Given the description of an element on the screen output the (x, y) to click on. 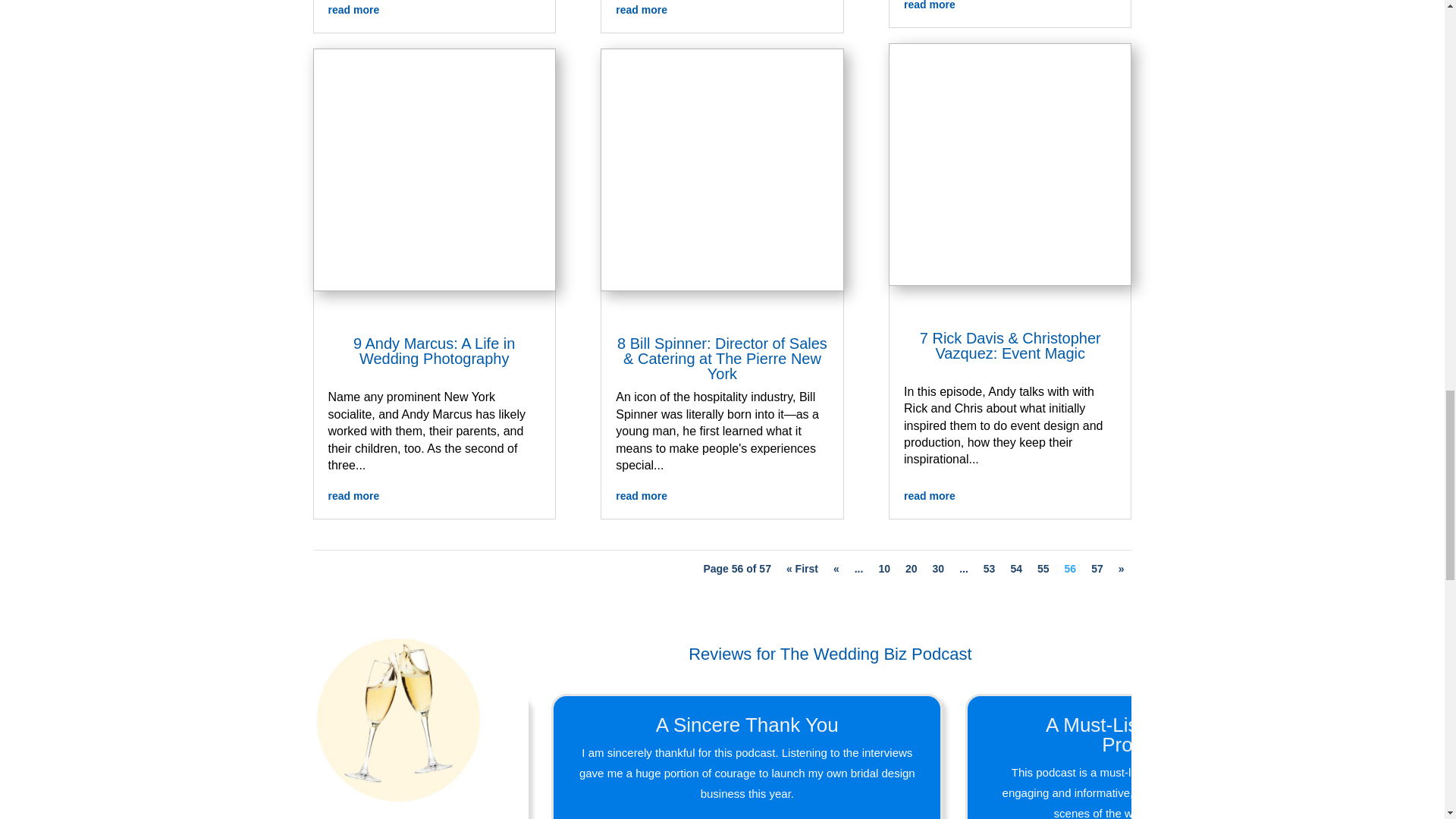
read more (721, 10)
Page 30 (938, 568)
Page 10 (884, 568)
Page 57 (1096, 568)
Page 55 (1042, 568)
Page 20 (911, 568)
9 Andy Marcus: A Life in Wedding Photography (434, 350)
read more (433, 496)
Page 53 (988, 568)
read more (433, 10)
